Given the description of an element on the screen output the (x, y) to click on. 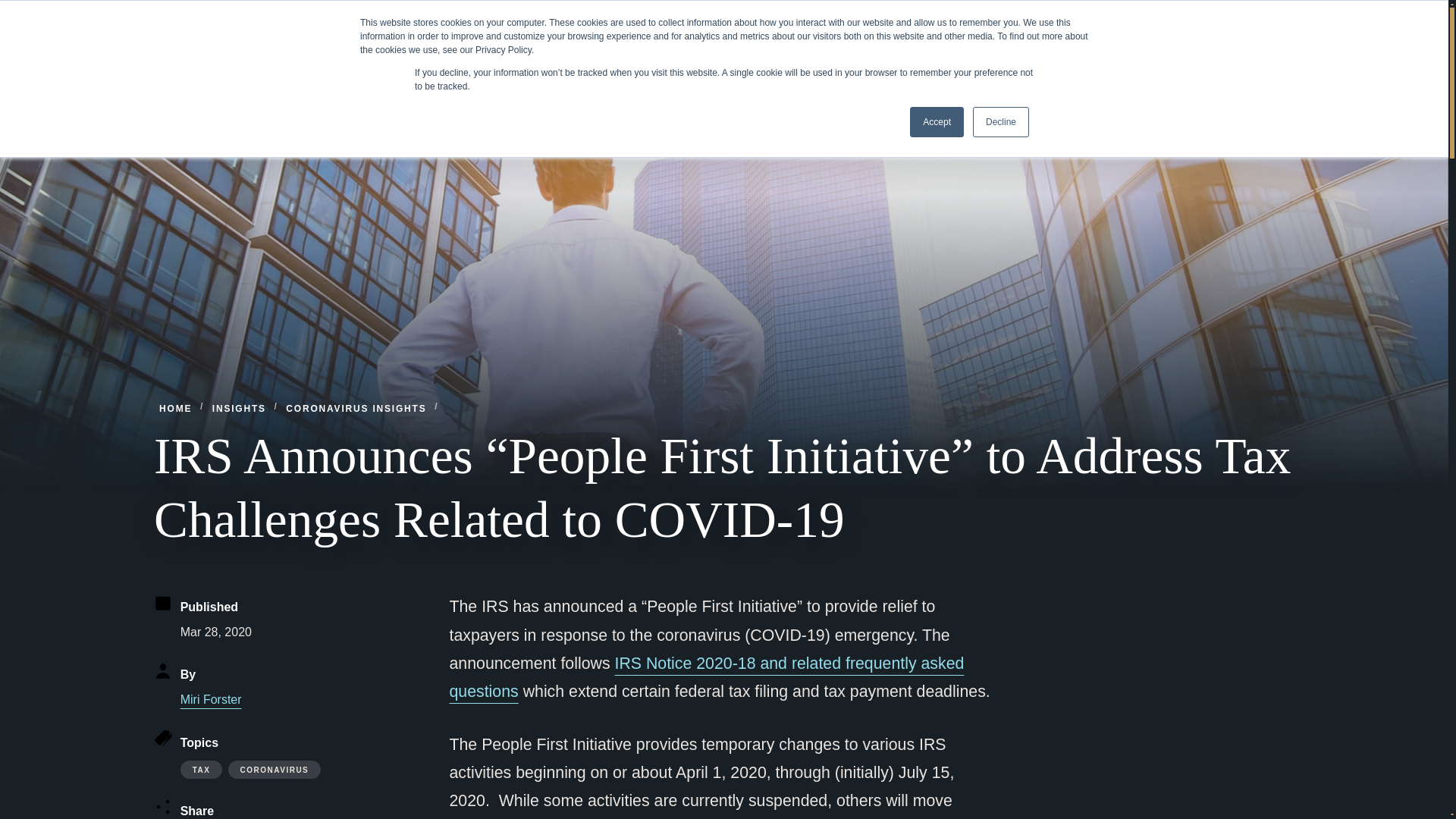
Accept (936, 122)
Contact Us (1039, 17)
Decline (1000, 122)
Search (1259, 17)
EisnerAmper Home (256, 67)
Skip to content (12, 6)
Client Resources (1175, 17)
Careers (1100, 17)
